Given the description of an element on the screen output the (x, y) to click on. 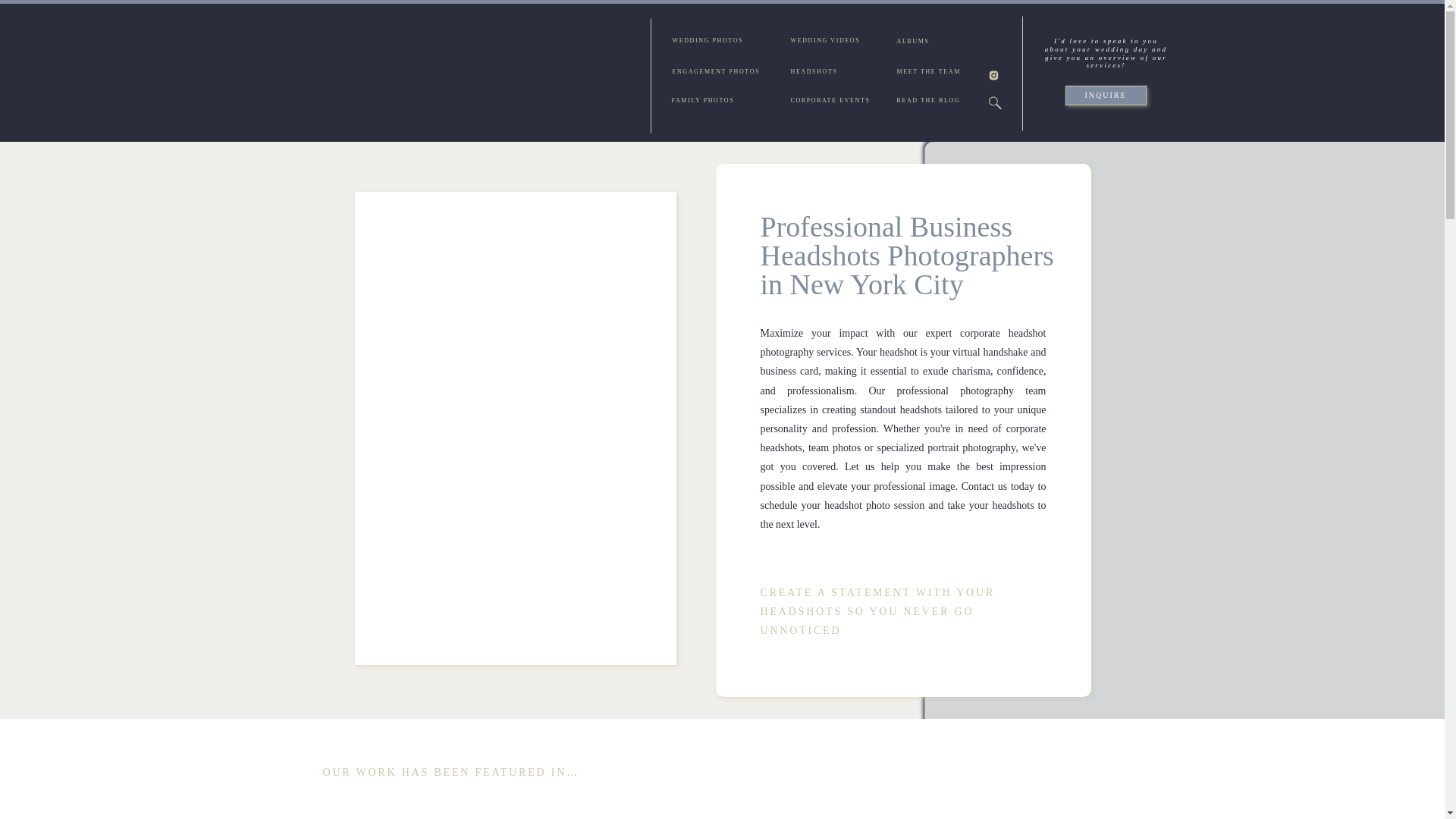
ALBUMS (918, 42)
INQUIRE (1104, 95)
FAMILY PHOTOS (706, 101)
ENGAGEMENT PHOTOS (722, 73)
WEDDING VIDEOS (830, 42)
HEADSHOTS (817, 73)
READ THE BLOG (931, 101)
WEDDING PHOTOS (712, 42)
CORPORATE EVENTS (836, 101)
MEET THE TEAM (931, 73)
